Given the description of an element on the screen output the (x, y) to click on. 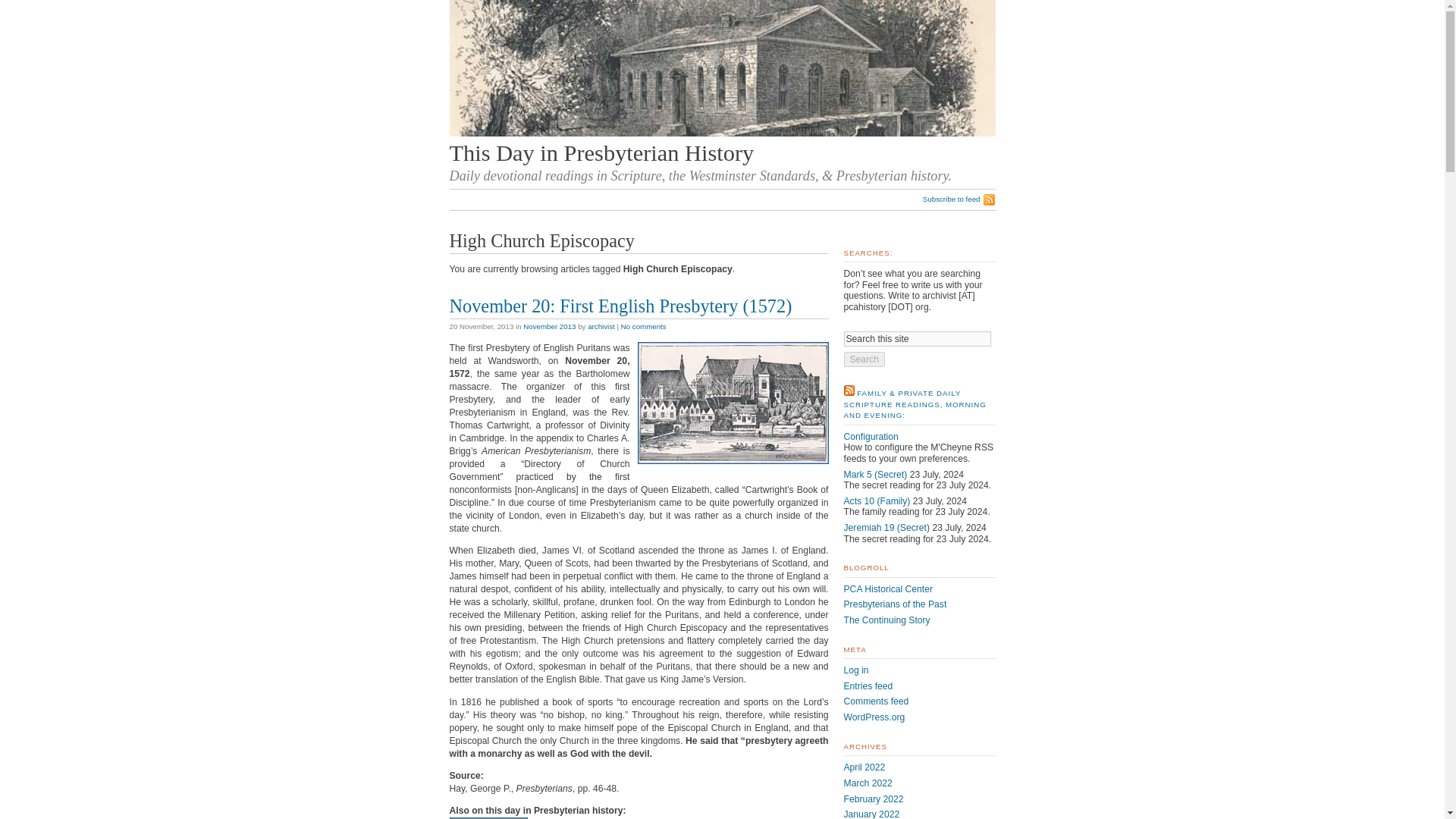
The Continuing Story (886, 620)
Return to main page (721, 132)
November 2013 (548, 326)
PCA Historical Center (888, 588)
Search (864, 359)
The lives, places, writings, and events of Reformed history (894, 603)
No comments (643, 326)
archivist (601, 326)
Return to main page (601, 153)
Subscribe to feed (959, 199)
This Day in Presbyterian History (601, 153)
Articles by archivist (601, 326)
Comments feed (875, 701)
Log in (855, 670)
Presbyterians of the Past (894, 603)
